Given the description of an element on the screen output the (x, y) to click on. 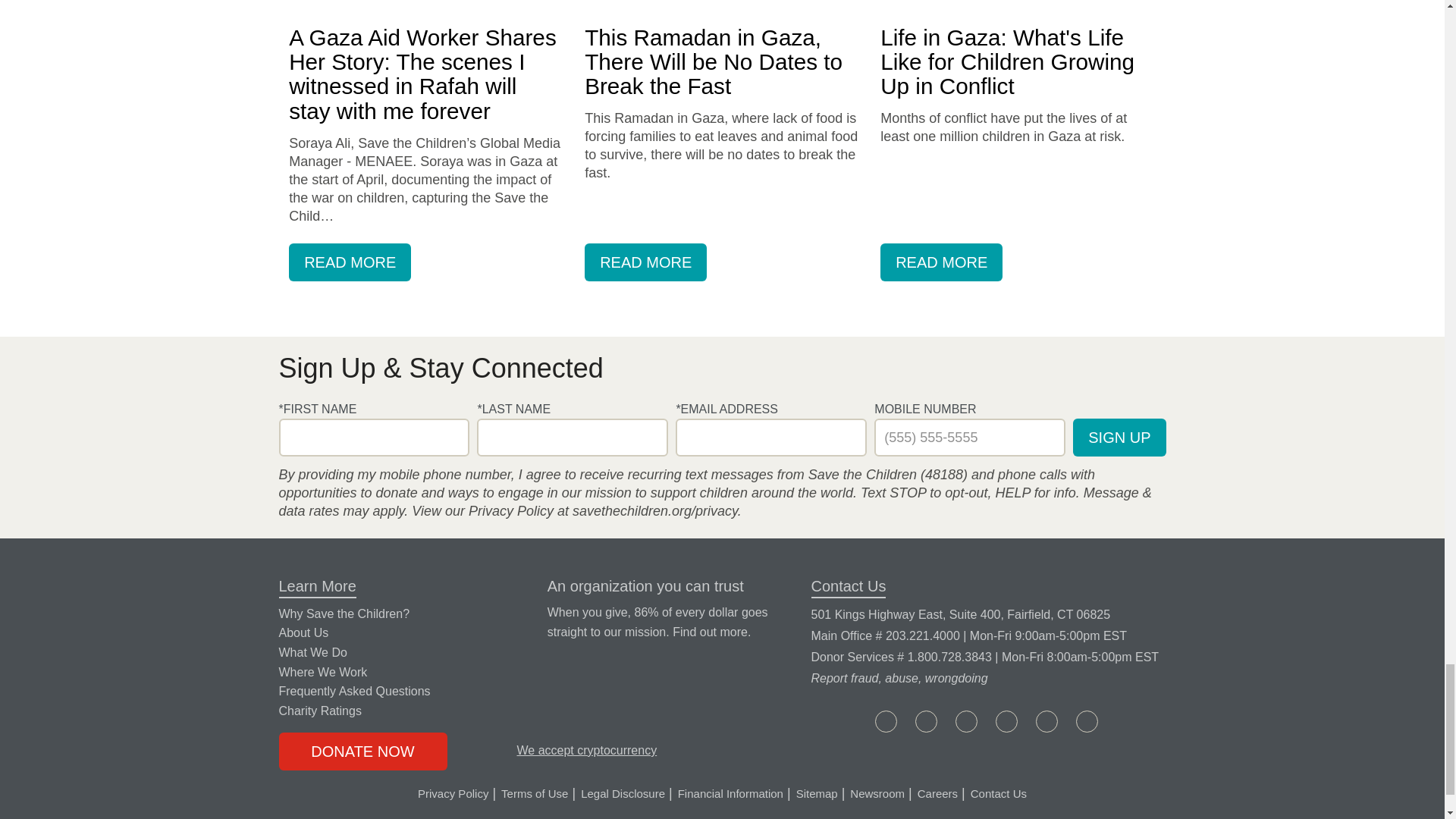
Sign Up (1119, 437)
